Given the description of an element on the screen output the (x, y) to click on. 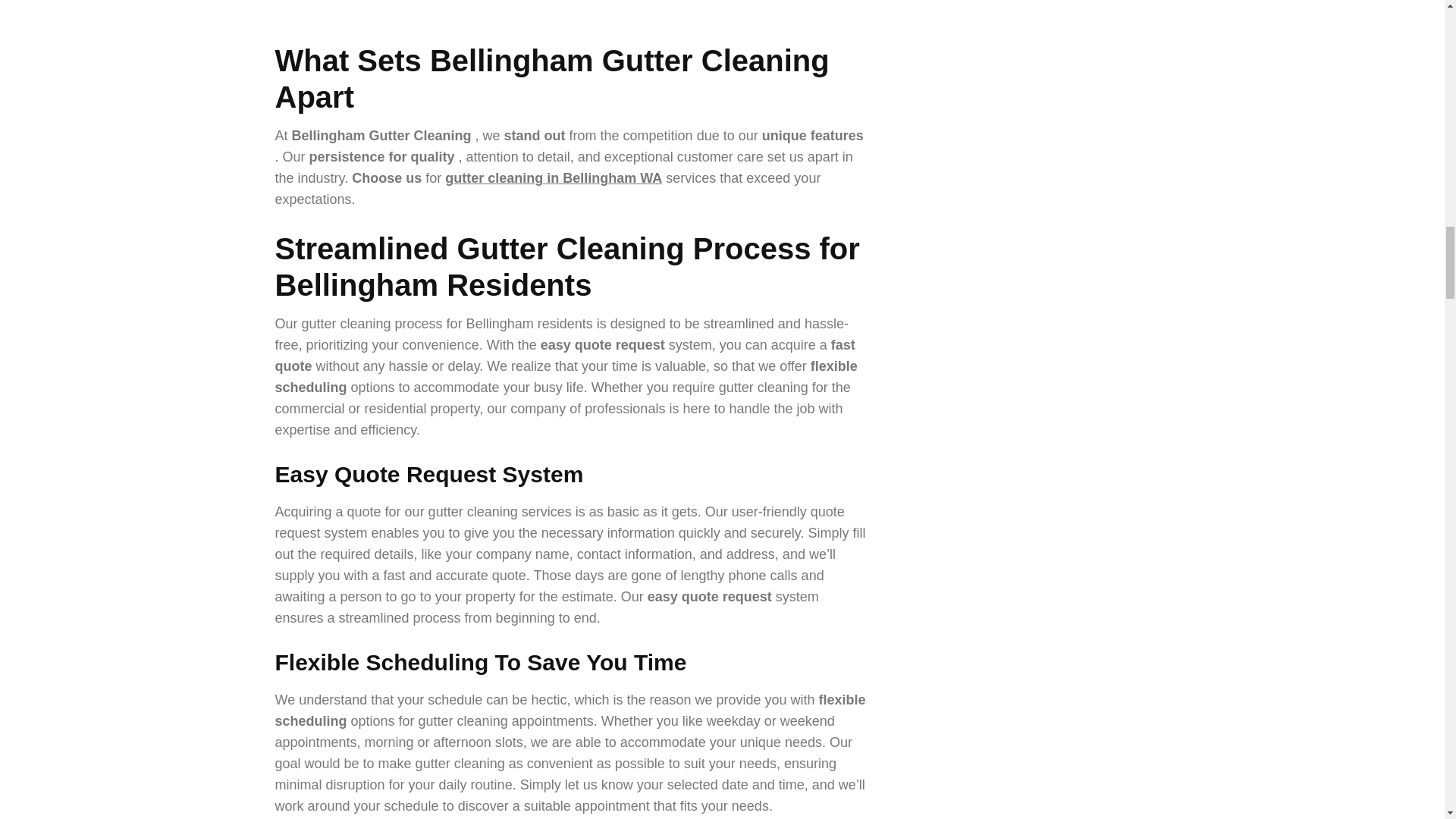
gutter cleaning in Bellingham WA (553, 177)
